Given the description of an element on the screen output the (x, y) to click on. 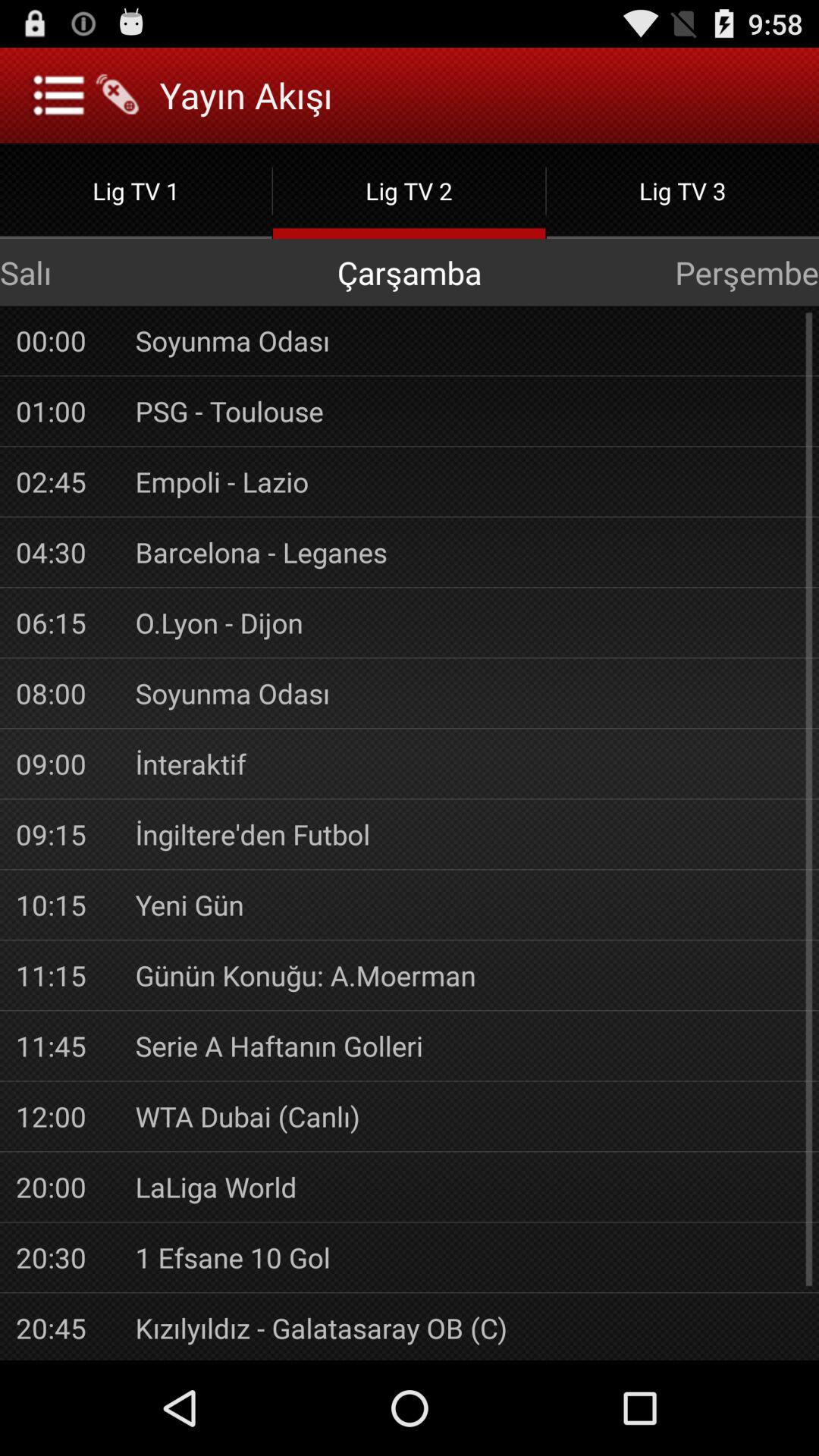
select the app next to 01:00 app (469, 410)
